Given the description of an element on the screen output the (x, y) to click on. 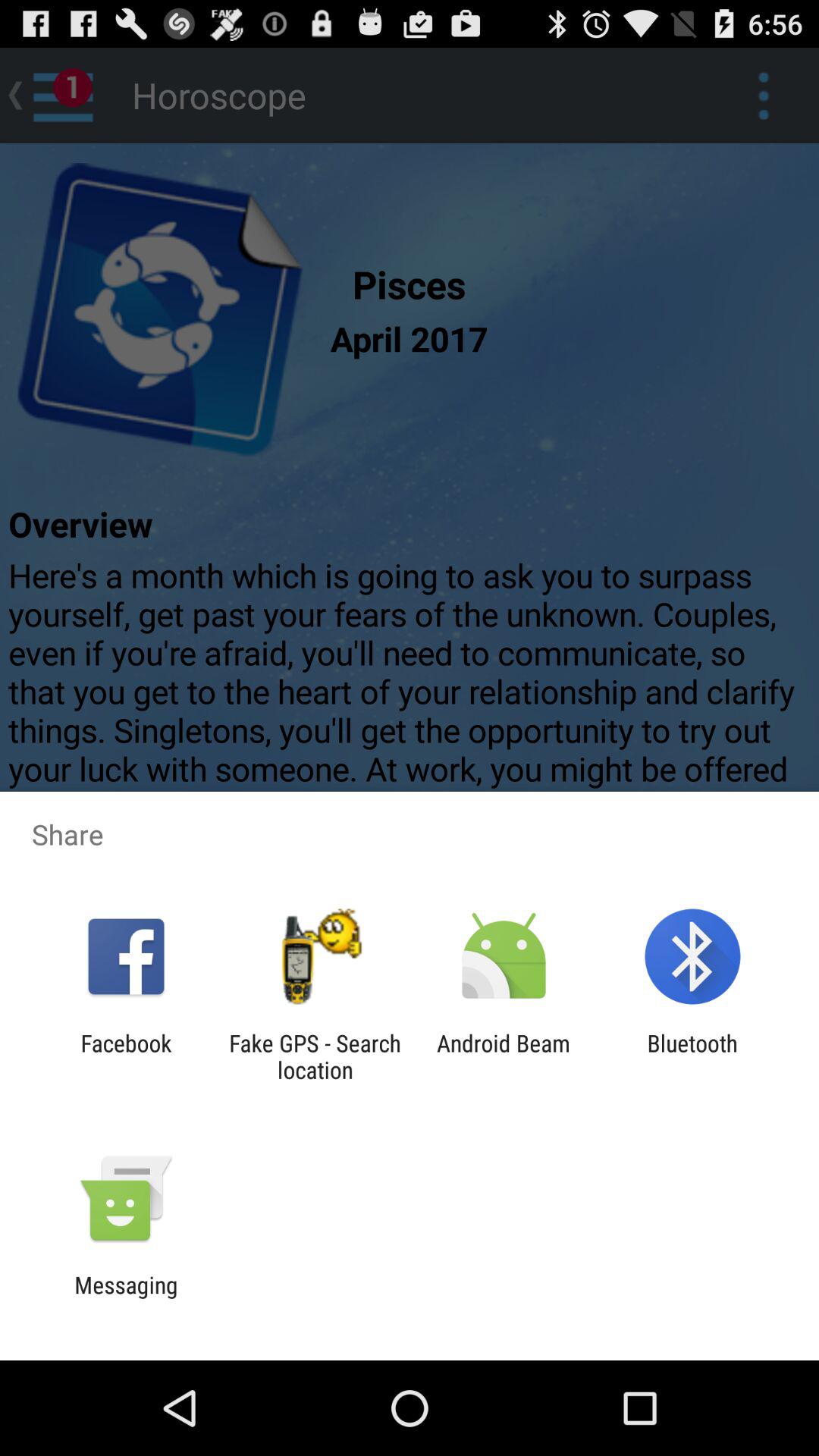
flip to bluetooth app (692, 1056)
